Given the description of an element on the screen output the (x, y) to click on. 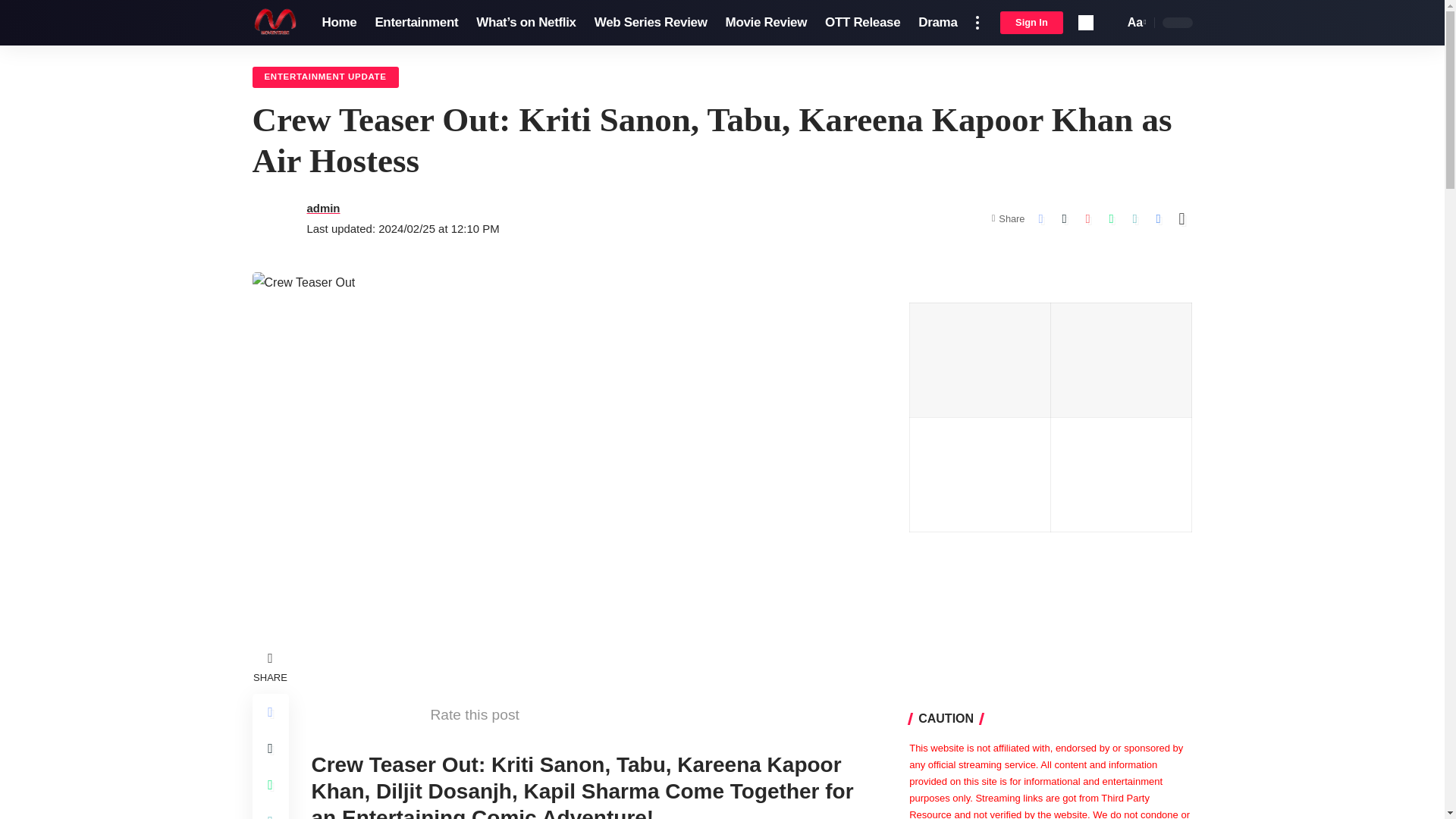
Home (339, 22)
Entertainment (416, 22)
OTT Release (861, 22)
Drama (937, 22)
Web Series Review (1135, 22)
Sign In (650, 22)
Movieverse (1031, 22)
Movie Review (274, 22)
